Given the description of an element on the screen output the (x, y) to click on. 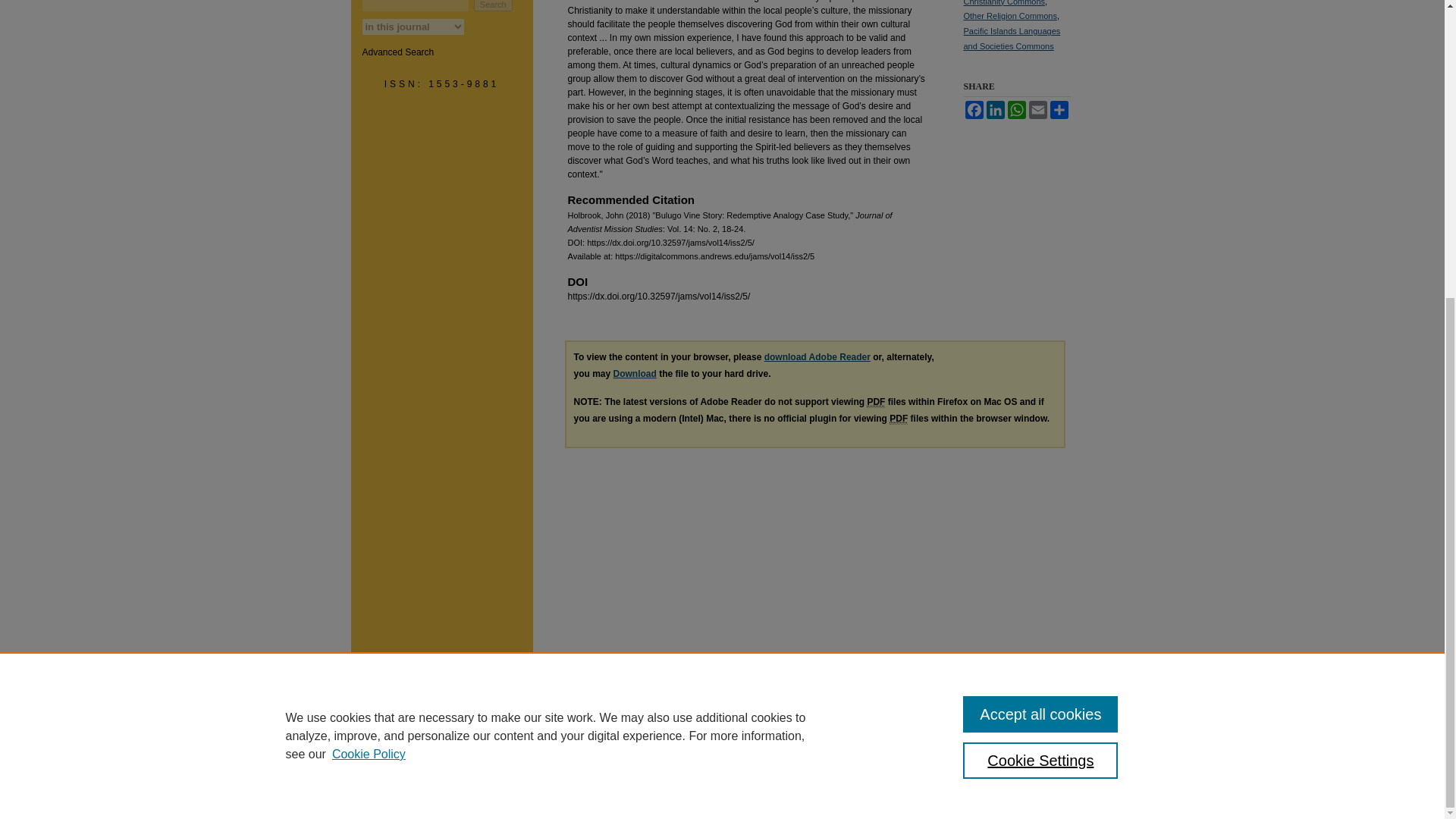
Missions and World Christianity Commons (1003, 2)
Search (493, 5)
Missions and World Christianity Commons (1003, 2)
Download (634, 373)
Pacific Islands Languages and Societies Commons (1010, 38)
Other Religion Commons (1009, 15)
Adobe - Adobe Reader download (817, 357)
Search (493, 5)
Facebook (973, 109)
Email (1037, 109)
Other Religion Commons (1009, 15)
Share (1058, 109)
download Adobe Reader (817, 357)
WhatsApp (1016, 109)
Pacific Islands Languages and Societies Commons (1010, 38)
